Given the description of an element on the screen output the (x, y) to click on. 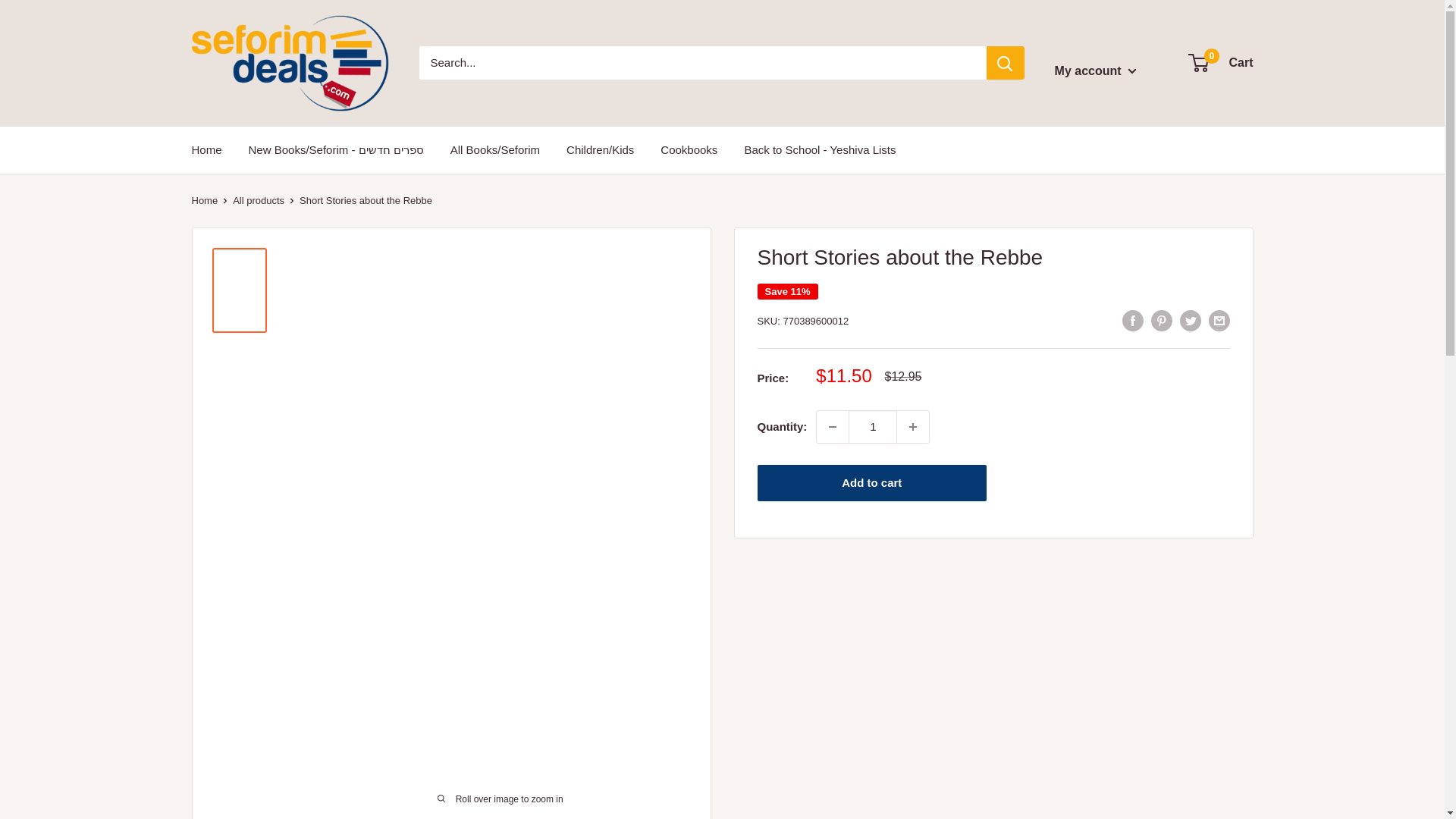
Home (205, 149)
1 (872, 427)
My account (1095, 70)
Back to School - Yeshiva Lists (1220, 62)
Cookbooks (819, 149)
All products (689, 149)
Home (257, 200)
Increase quantity by 1 (203, 200)
Decrease quantity by 1 (912, 427)
